Given the description of an element on the screen output the (x, y) to click on. 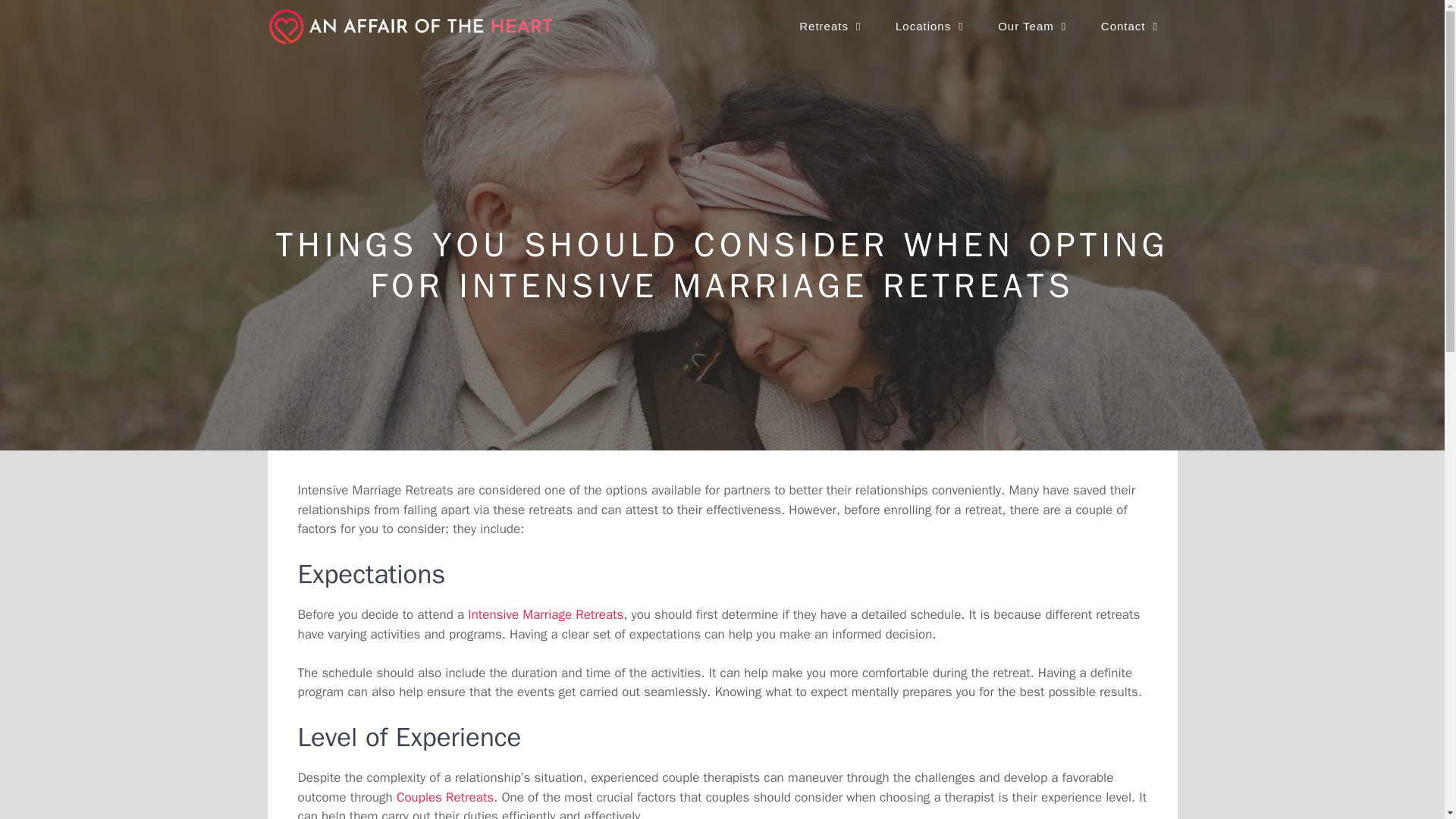
Contact (1131, 26)
Our Team (1034, 26)
Retreats (832, 26)
Locations (931, 26)
Intensive Marriage Retreats (545, 614)
Couples Retreats (444, 796)
